Given the description of an element on the screen output the (x, y) to click on. 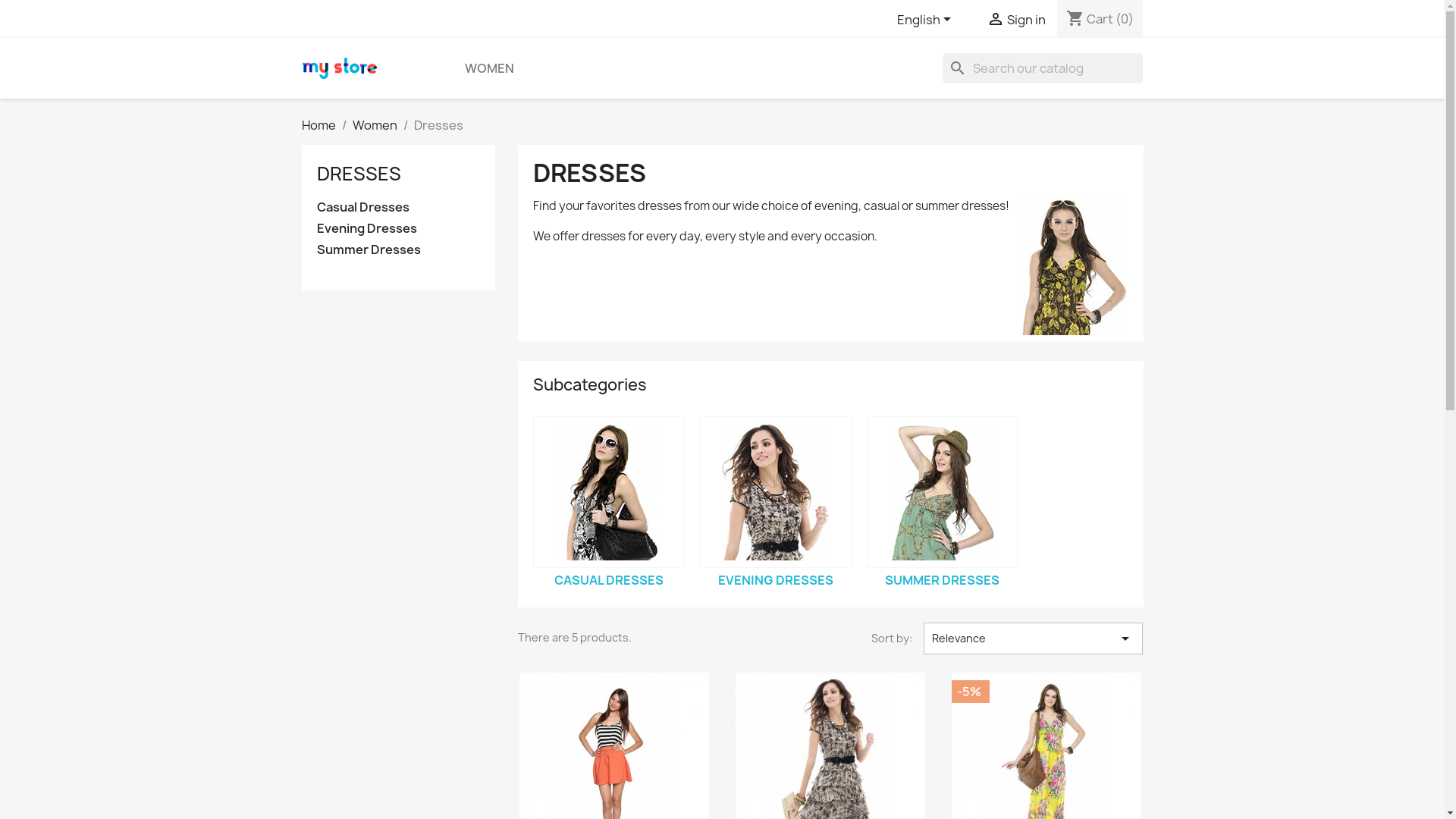
CASUAL DRESSES Element type: text (607, 579)
Women Element type: text (373, 124)
Evening Dresses Element type: hover (774, 491)
WOMEN Element type: text (488, 68)
Casual Dresses Element type: hover (608, 491)
Casual Dresses Element type: text (398, 207)
Home Element type: text (318, 124)
EVENING DRESSES Element type: text (774, 579)
SUMMER DRESSES Element type: text (941, 579)
Evening Dresses Element type: text (398, 229)
DRESSES Element type: text (358, 173)
Summer Dresses Element type: hover (941, 491)
Summer Dresses Element type: text (398, 250)
